Given the description of an element on the screen output the (x, y) to click on. 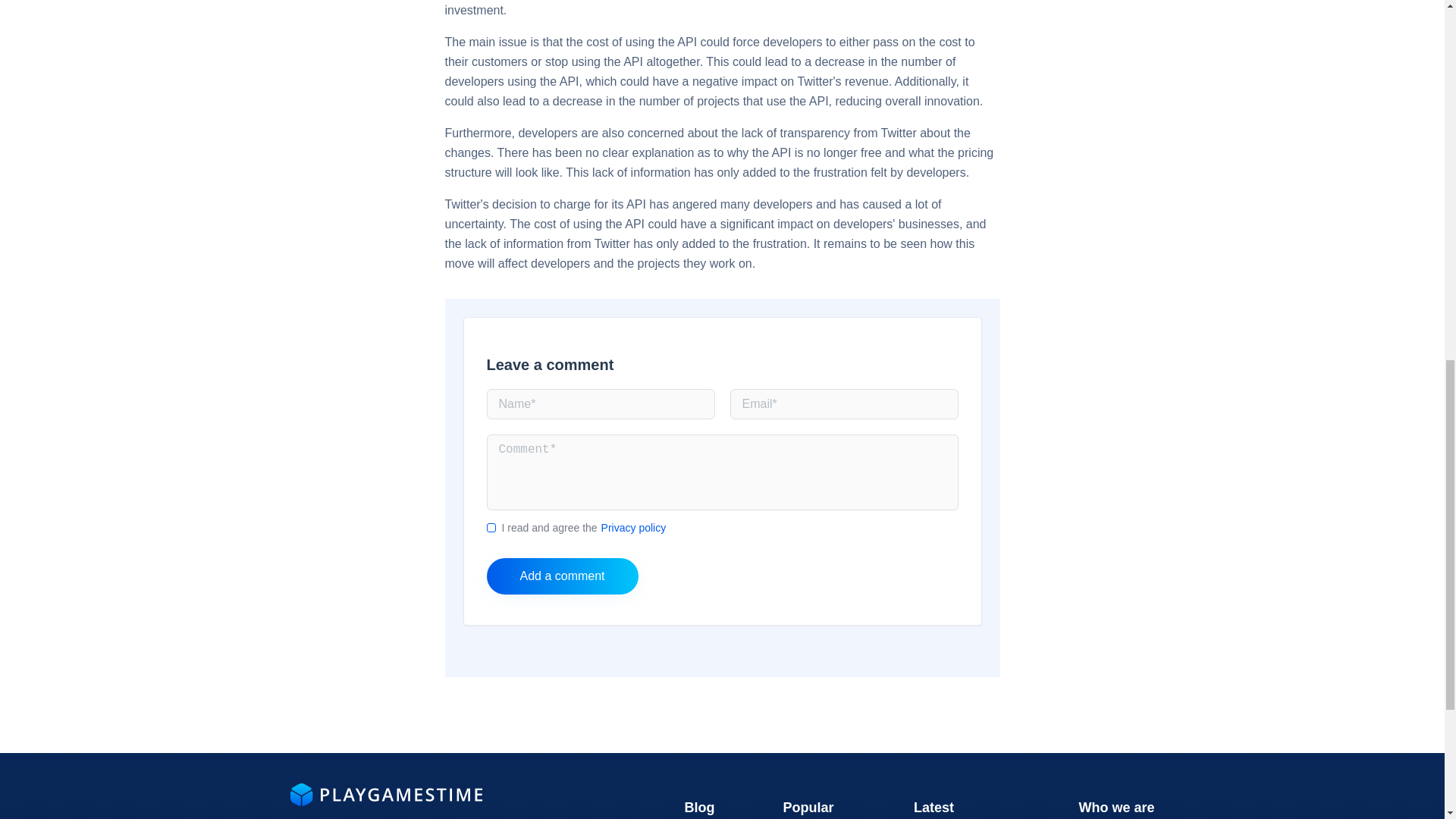
logo-dark (385, 802)
Privacy policy (633, 527)
Add a comment (562, 575)
logo-dark (385, 793)
